Given the description of an element on the screen output the (x, y) to click on. 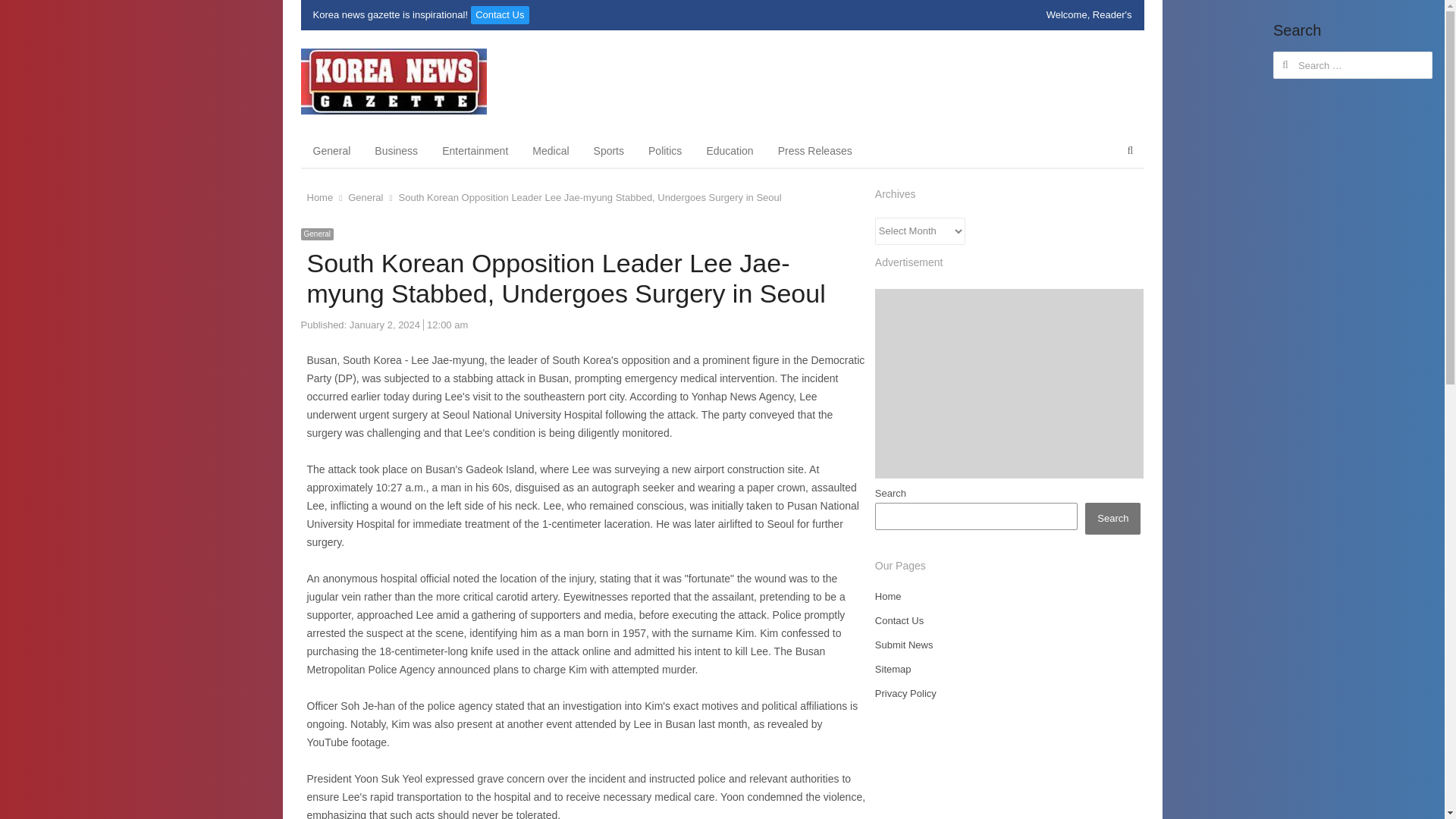
Press Releases (814, 150)
General (316, 234)
Sports (608, 150)
Business (395, 150)
General (364, 197)
Home (319, 197)
General (330, 150)
Submit News (904, 644)
Search (1112, 518)
Search (27, 13)
Entertainment (474, 150)
Contact Us (499, 14)
Politics (665, 150)
Medical (549, 150)
Korea News Gazette (398, 81)
